Given the description of an element on the screen output the (x, y) to click on. 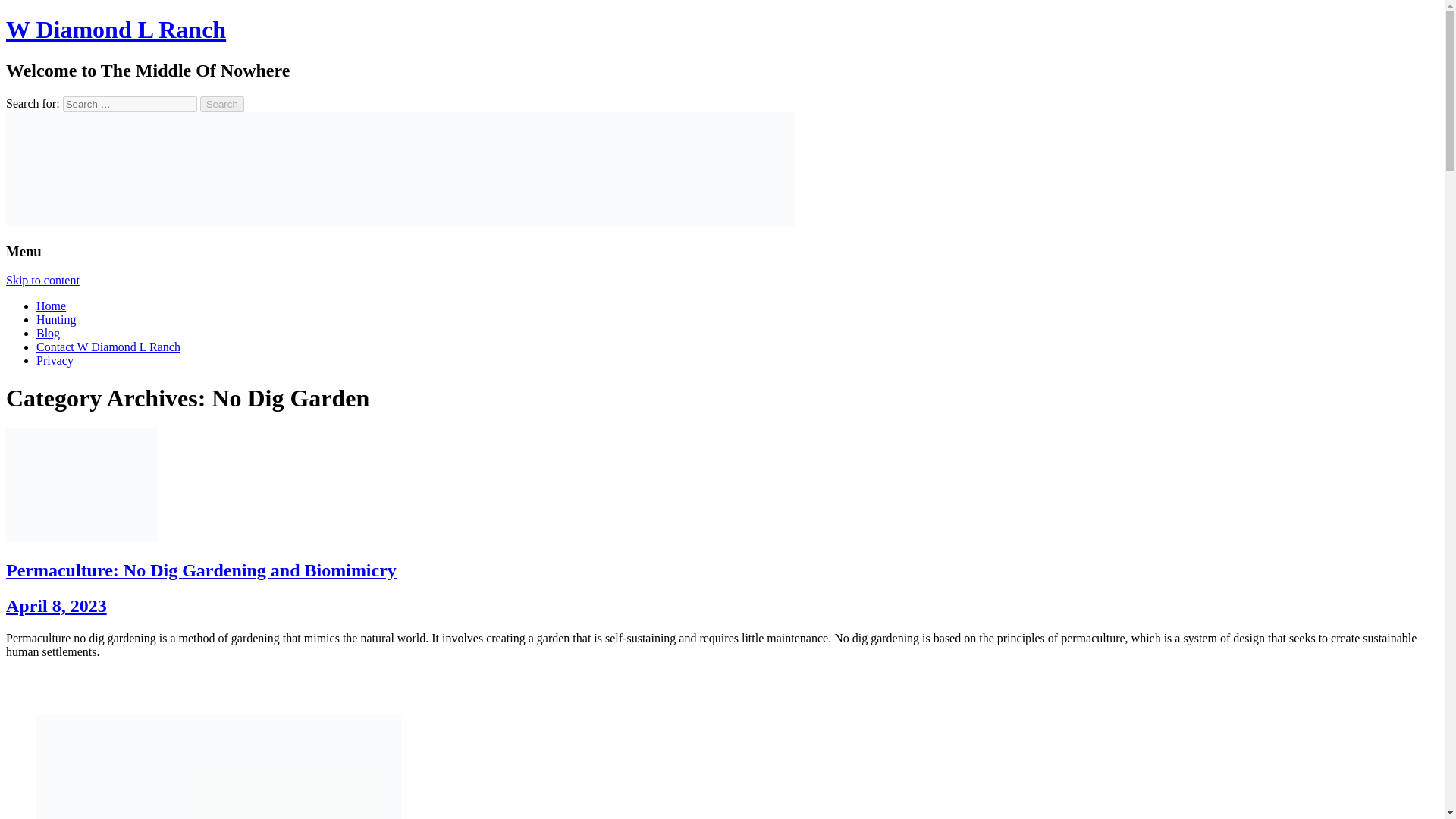
Blog (47, 332)
W Diamond L Ranch (115, 29)
Hunting (55, 318)
Search (222, 104)
Home (50, 305)
Permaculture: No Dig Gardening and Biomimicry (200, 569)
Skip to content (42, 279)
8:09 am (55, 605)
Skip to content (42, 279)
W Diamond L Ranch (115, 29)
